Given the description of an element on the screen output the (x, y) to click on. 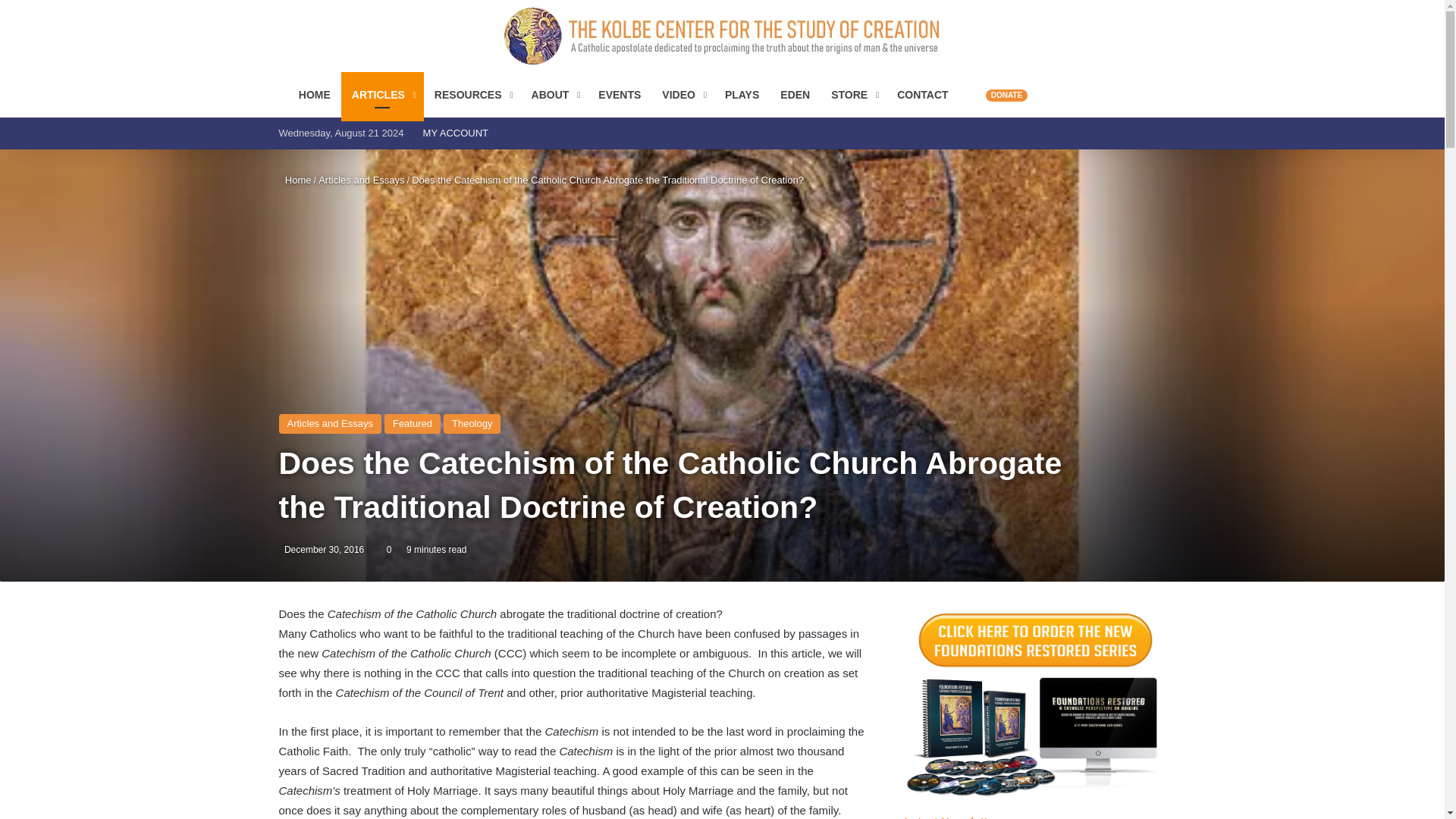
VIDEO (682, 94)
Kolbe Center for the Study of Creation (722, 35)
ABOUT (554, 94)
RESOURCES (472, 94)
EDEN (795, 94)
ARTICLES (381, 94)
PLAYS (742, 94)
HOME (314, 94)
EVENTS (619, 94)
